Given the description of an element on the screen output the (x, y) to click on. 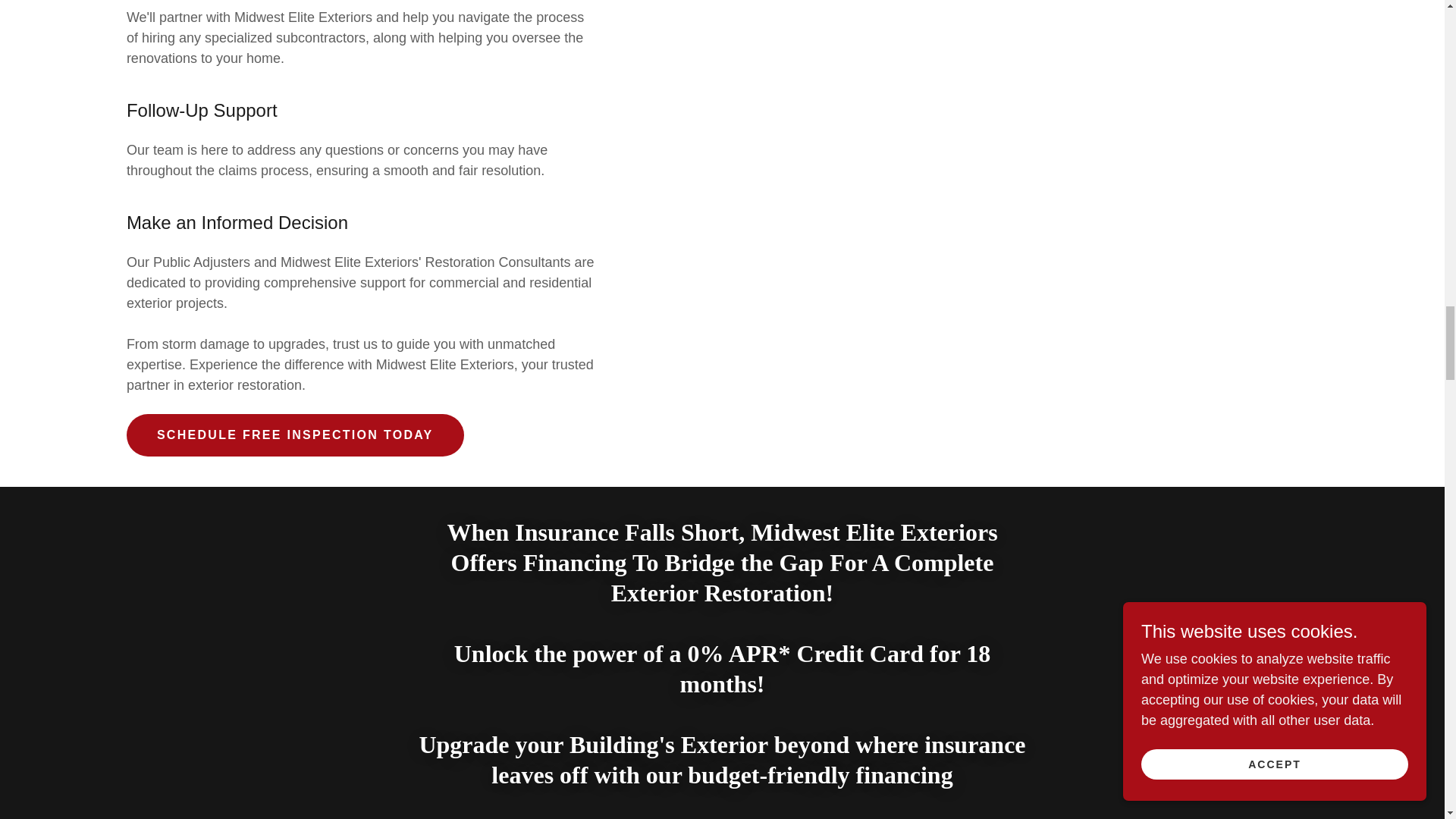
SCHEDULE FREE INSPECTION TODAY (295, 435)
